Given the description of an element on the screen output the (x, y) to click on. 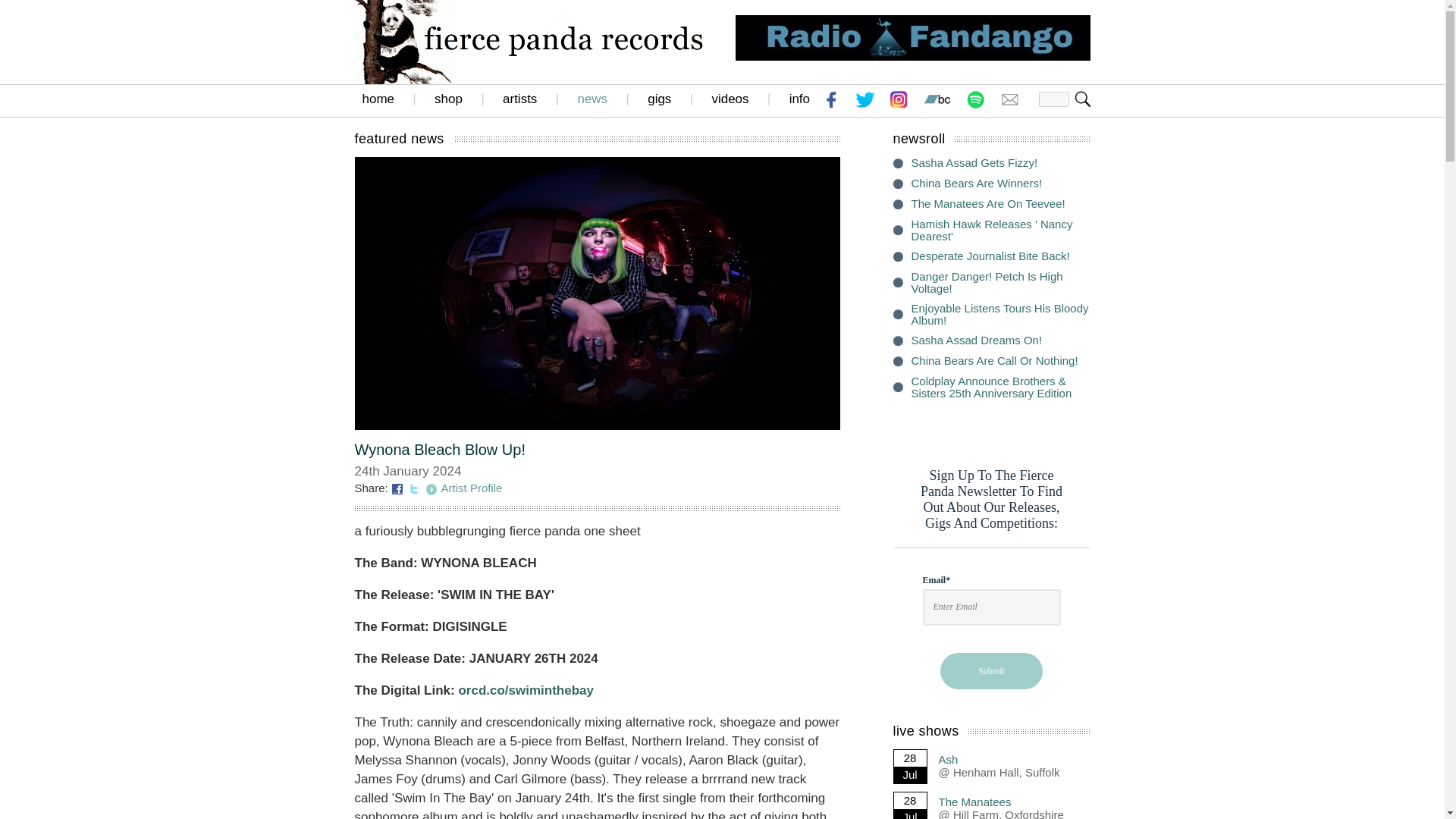
Wynona Bleach Blow Up! (440, 449)
Submit (991, 670)
home (378, 98)
news (591, 98)
artists (519, 98)
Join (1082, 98)
Artist Profile (471, 487)
gigs (659, 98)
videos (729, 98)
Join (1082, 98)
shop (448, 98)
info (799, 98)
